Given the description of an element on the screen output the (x, y) to click on. 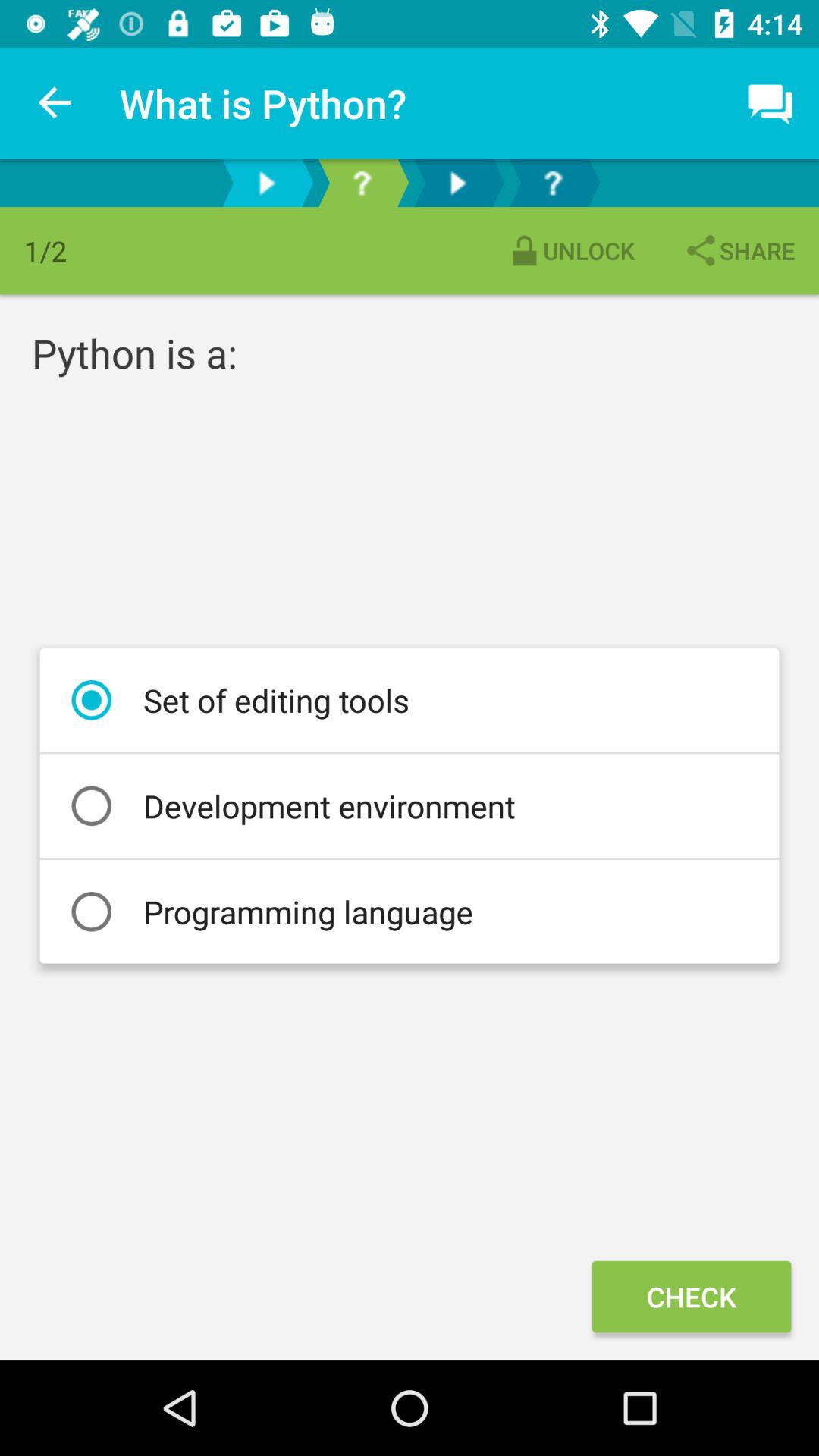
select current page (361, 183)
